Given the description of an element on the screen output the (x, y) to click on. 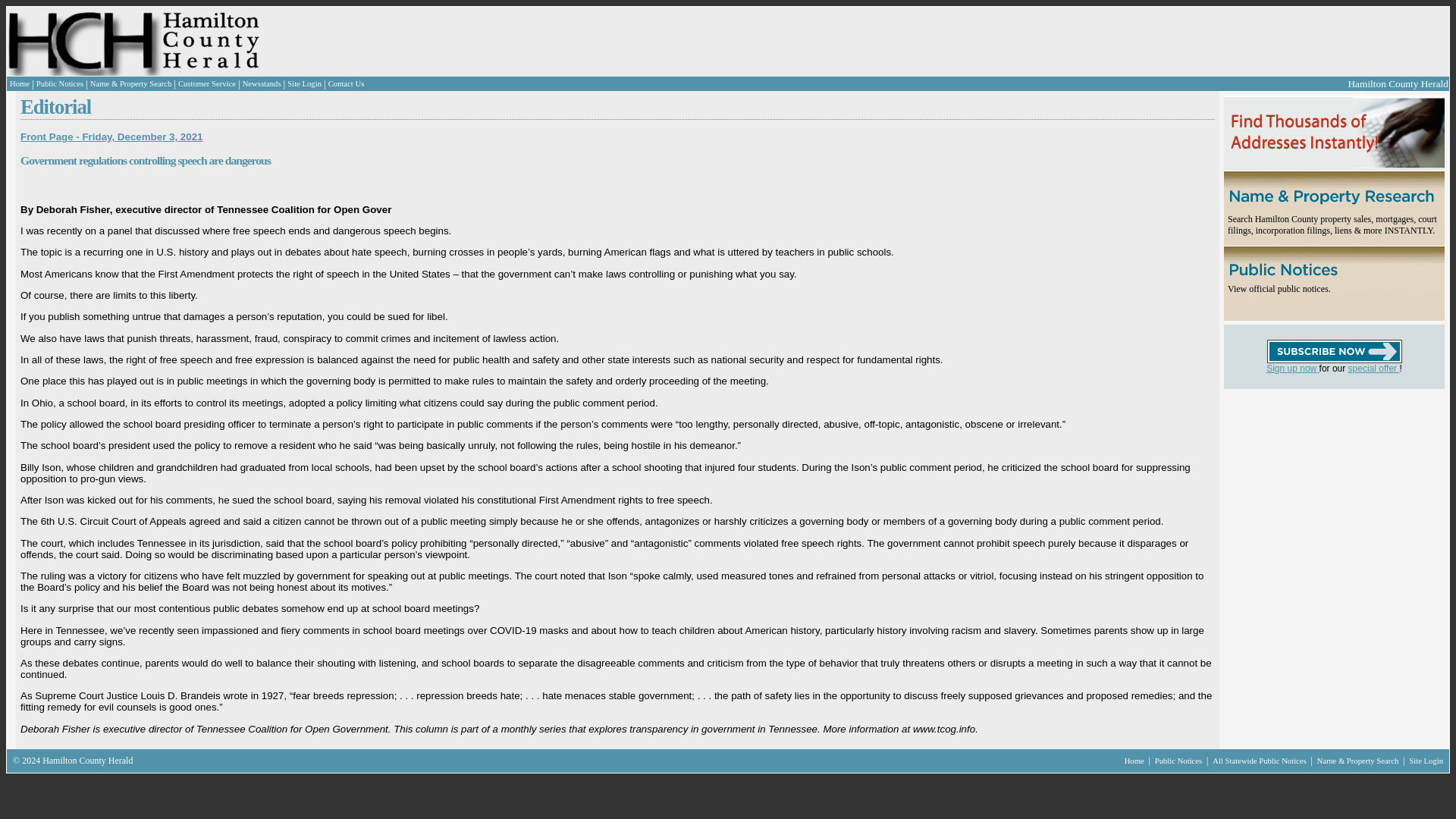
Home (19, 83)
special offer (1373, 368)
Home (1135, 760)
3rd party ad content (1314, 483)
Sign up now (1292, 368)
Contact Us (347, 83)
3rd party ad content (579, 41)
Public Notices (1179, 760)
View official public notices. (1278, 288)
All Statewide Public Notices (1259, 760)
Front Page - Friday, December 3, 2021 (111, 136)
Site Login (303, 83)
Customer Service (206, 83)
Public Notices (59, 83)
Newsstands (262, 83)
